Given the description of an element on the screen output the (x, y) to click on. 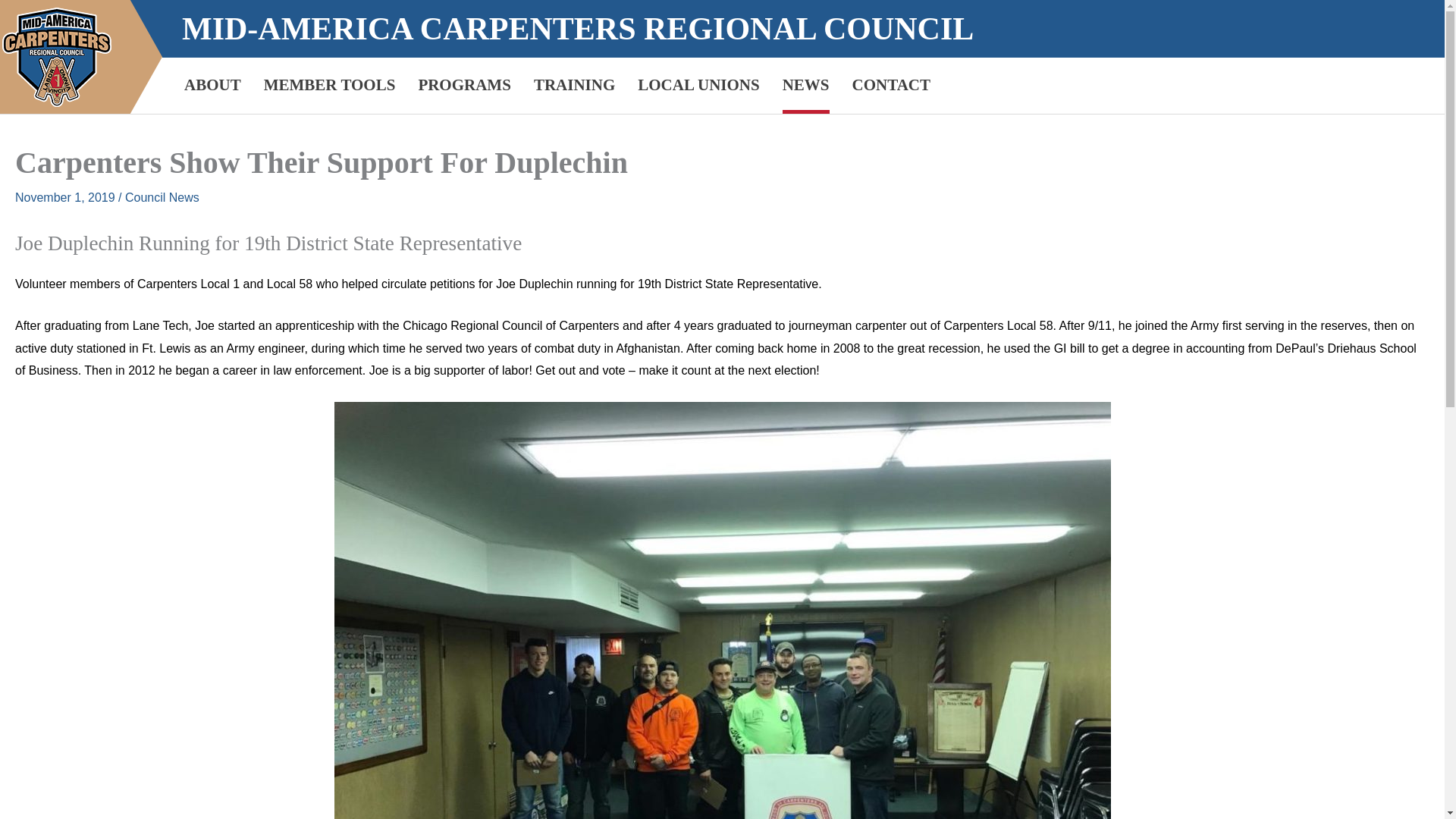
PROGRAMS (464, 85)
MEMBER TOOLS (329, 85)
MID-AMERICA CARPENTERS REGIONAL COUNCIL (578, 28)
ABOUT (212, 85)
